Given the description of an element on the screen output the (x, y) to click on. 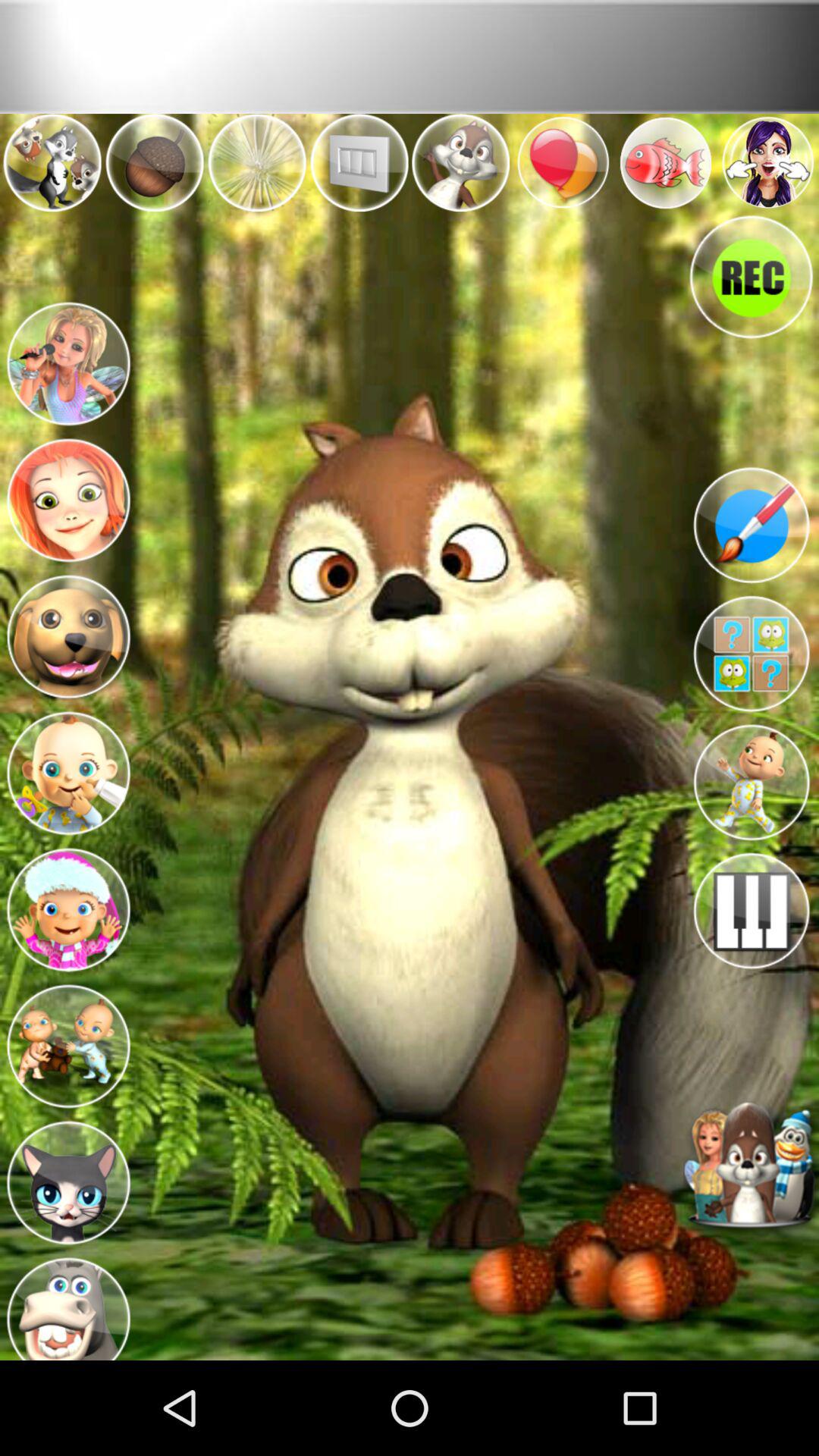
select red hair female filter (68, 495)
